Given the description of an element on the screen output the (x, y) to click on. 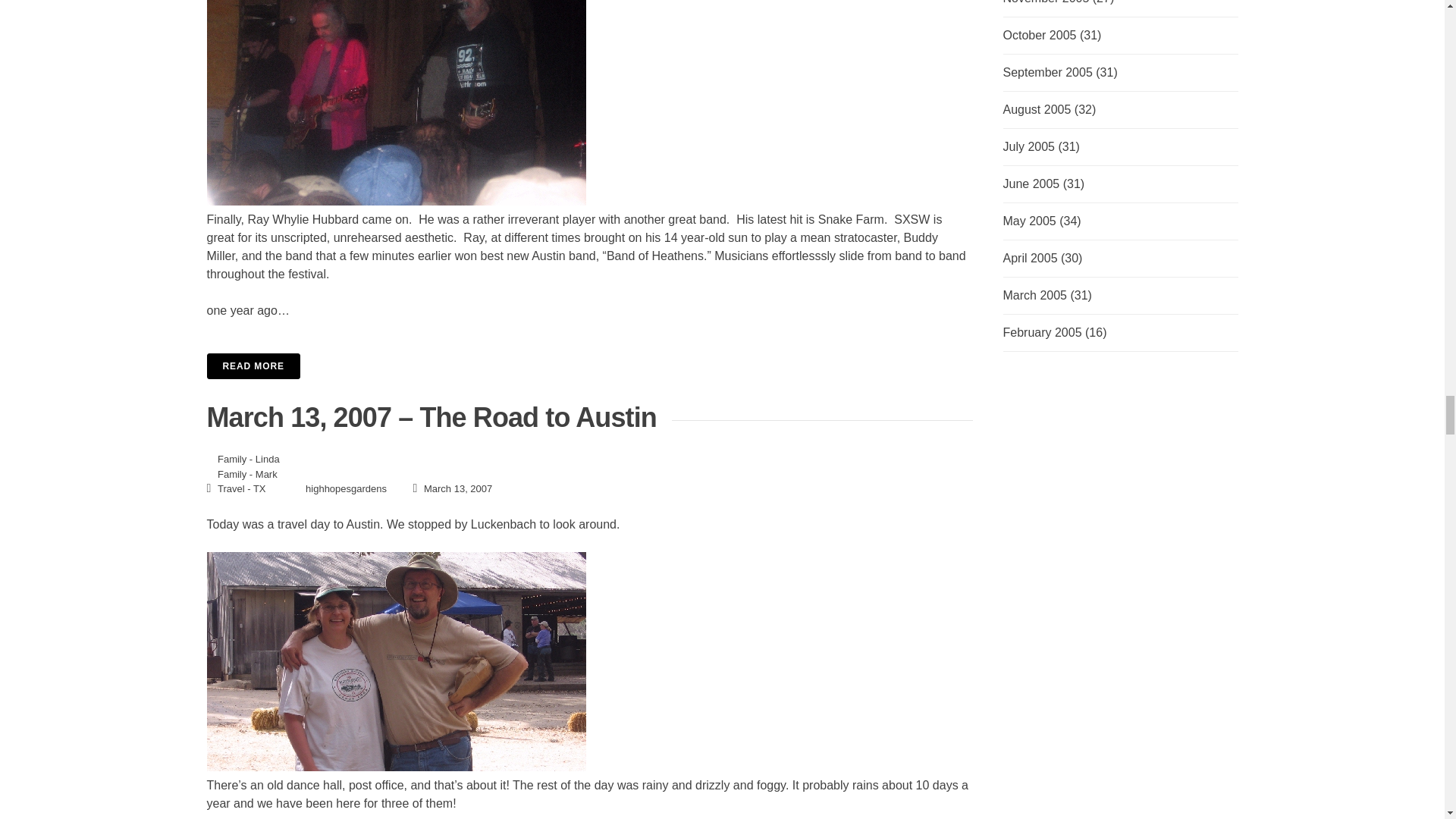
Travel - TX (241, 488)
Family - Linda (247, 459)
READ MORE (589, 365)
Family - Mark (247, 473)
READ MORE (252, 365)
